Given the description of an element on the screen output the (x, y) to click on. 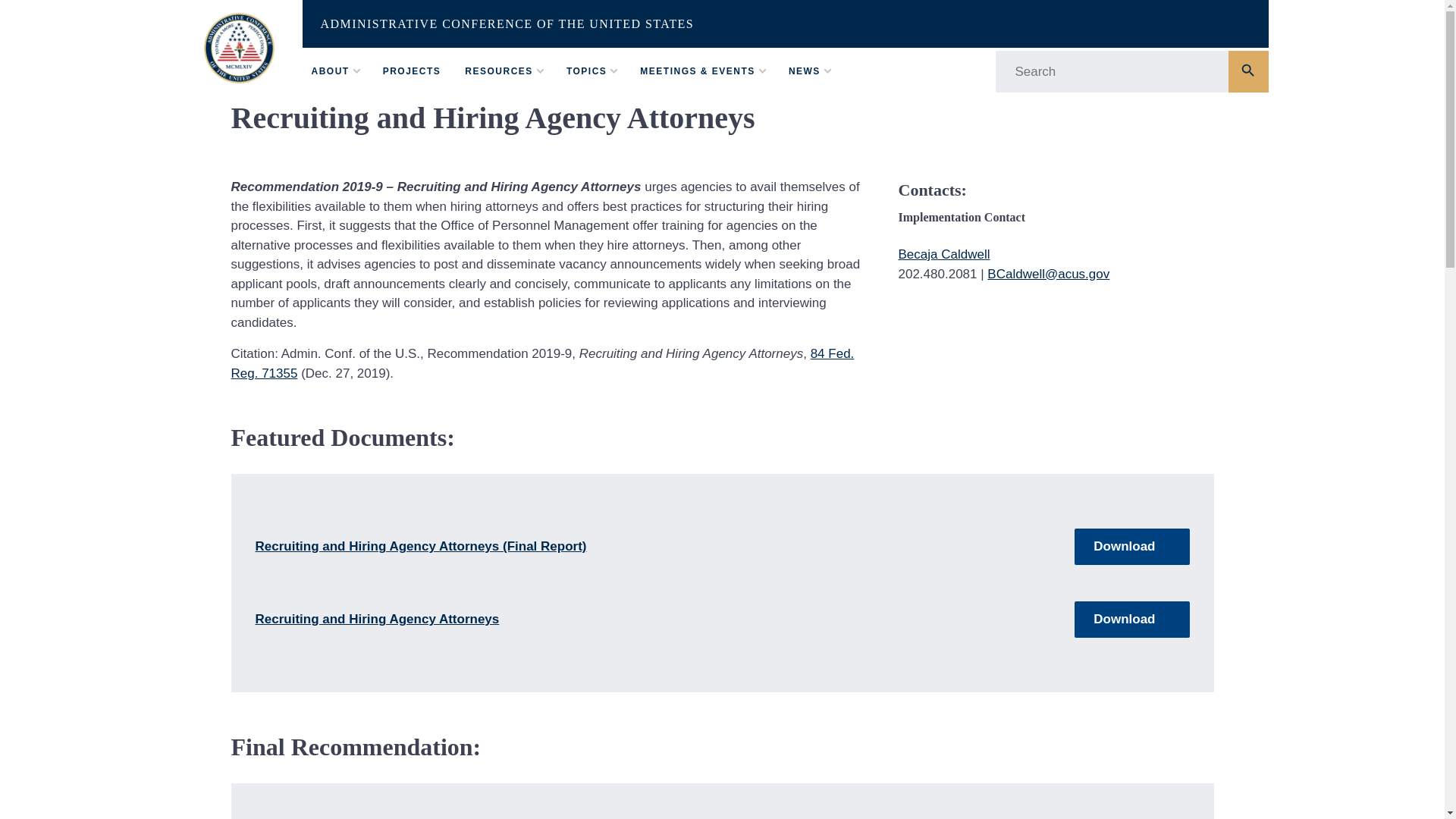
TOPICS (586, 71)
ABOUT (330, 71)
NEWS (805, 71)
Attorney Hiring FINAL REPORT.pdf (1131, 546)
RESOURCES (498, 71)
PROJECTS (411, 71)
